Given the description of an element on the screen output the (x, y) to click on. 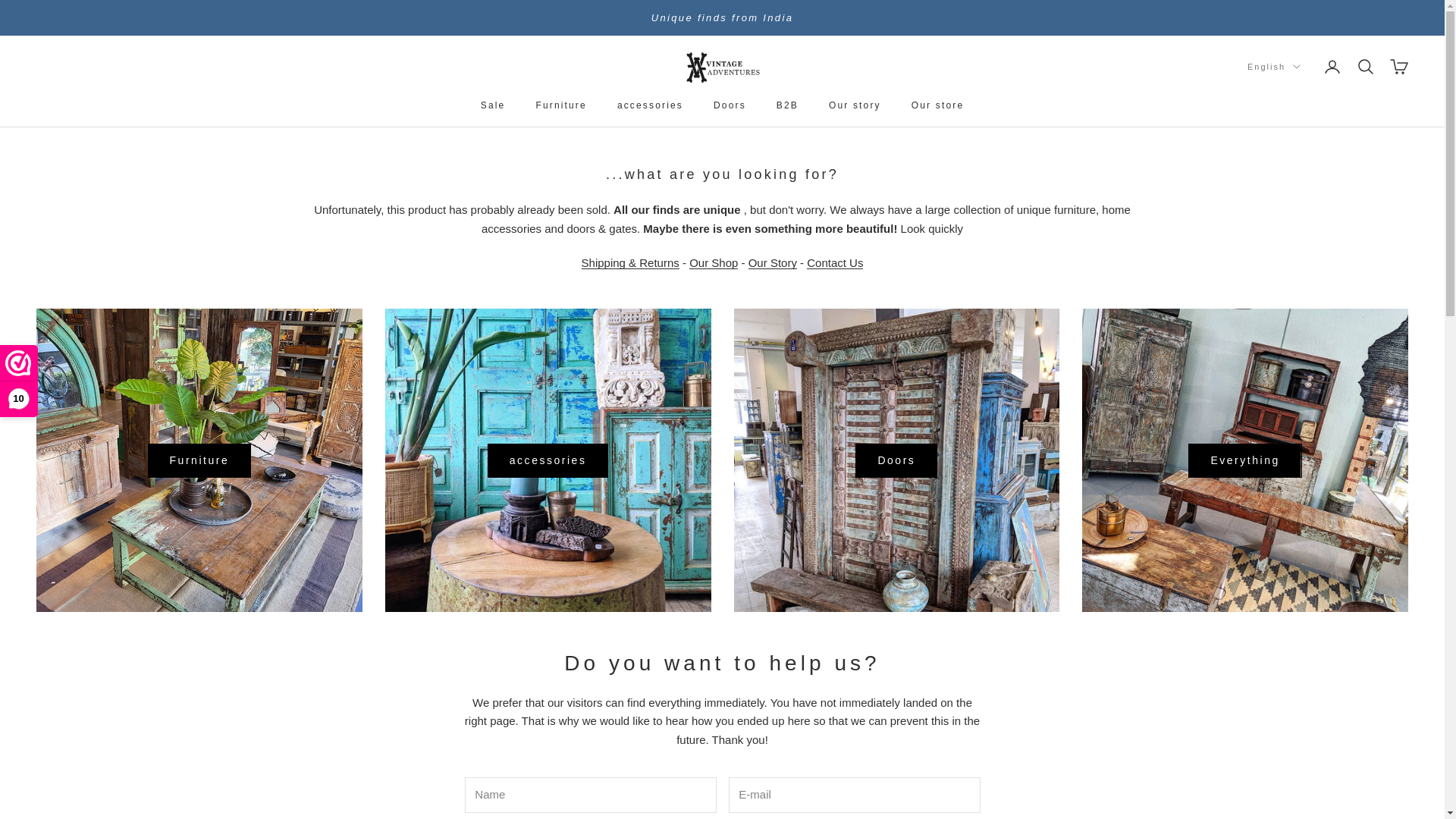
Open account page (1331, 66)
Doors (729, 105)
English (1273, 66)
Open cart (1398, 66)
Vintage Adventures (722, 66)
Contact (834, 262)
Open search (1365, 66)
Our story (854, 105)
Our story (772, 262)
Sale (492, 105)
Our store (713, 262)
Our store (937, 105)
